Given the description of an element on the screen output the (x, y) to click on. 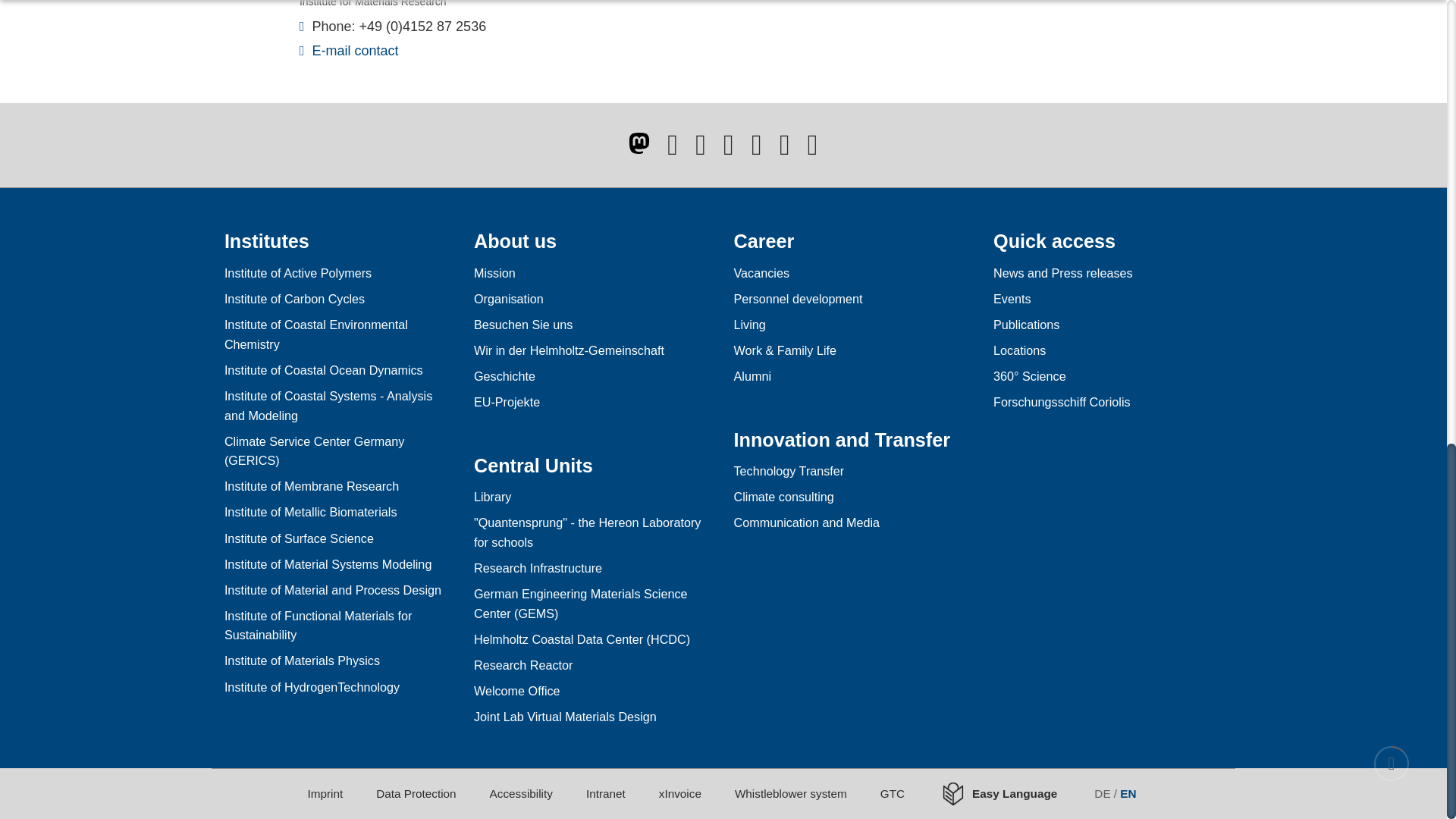
Hereon at Twitter (700, 150)
Hereon at Instagram (756, 150)
Hereon at Facebook (672, 150)
Easy Language (1007, 793)
Hereon at Linkedin (784, 150)
Hereon at Mastodon (638, 142)
Hereon at Rss (813, 150)
Hereon at Youtube (728, 150)
Click to change language (1116, 793)
